Given the description of an element on the screen output the (x, y) to click on. 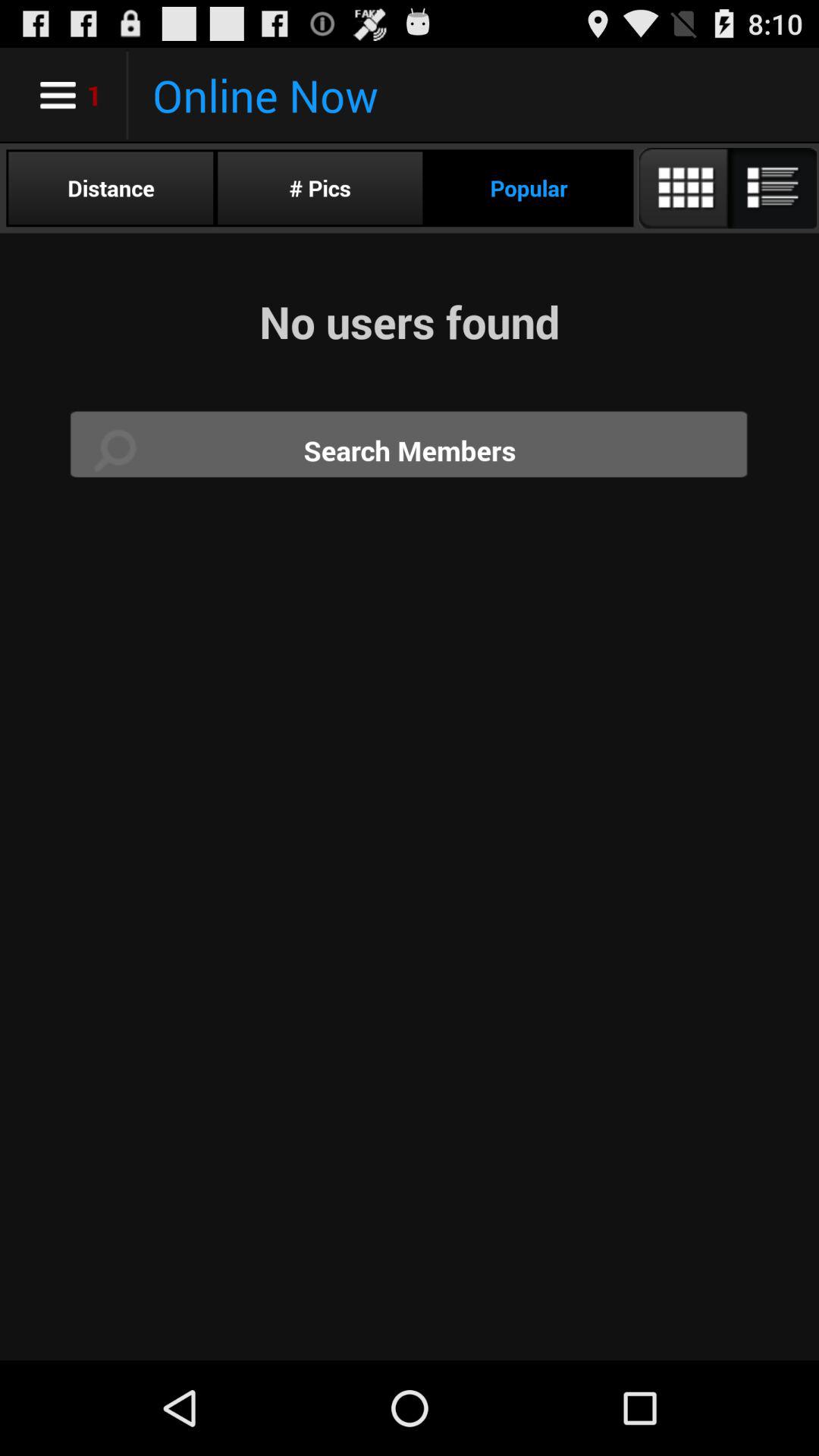
tap the icon next to popular (726, 187)
